Given the description of an element on the screen output the (x, y) to click on. 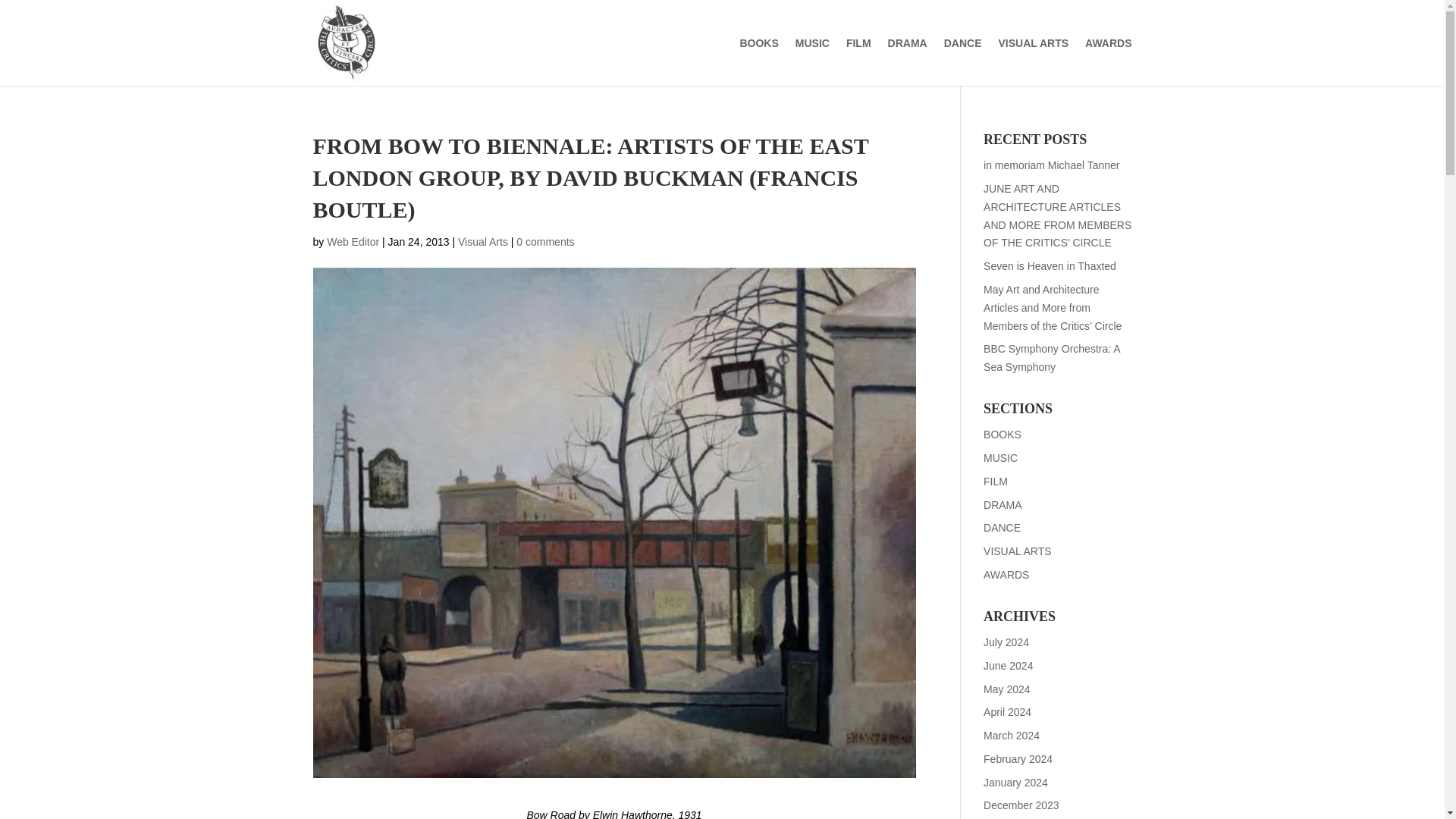
BBC Symphony Orchestra: A Sea Symphony (1051, 358)
July 2024 (1006, 642)
Visual Arts (483, 241)
January 2024 (1016, 782)
VISUAL ARTS (1032, 61)
AWARDS (1006, 574)
FILM (995, 481)
in memoriam Michael Tanner (1051, 164)
0 comments (544, 241)
June 2024 (1008, 665)
VISUAL ARTS (1017, 551)
February 2024 (1018, 758)
May 2024 (1006, 688)
BOOKS (1003, 434)
March 2024 (1011, 735)
